Given the description of an element on the screen output the (x, y) to click on. 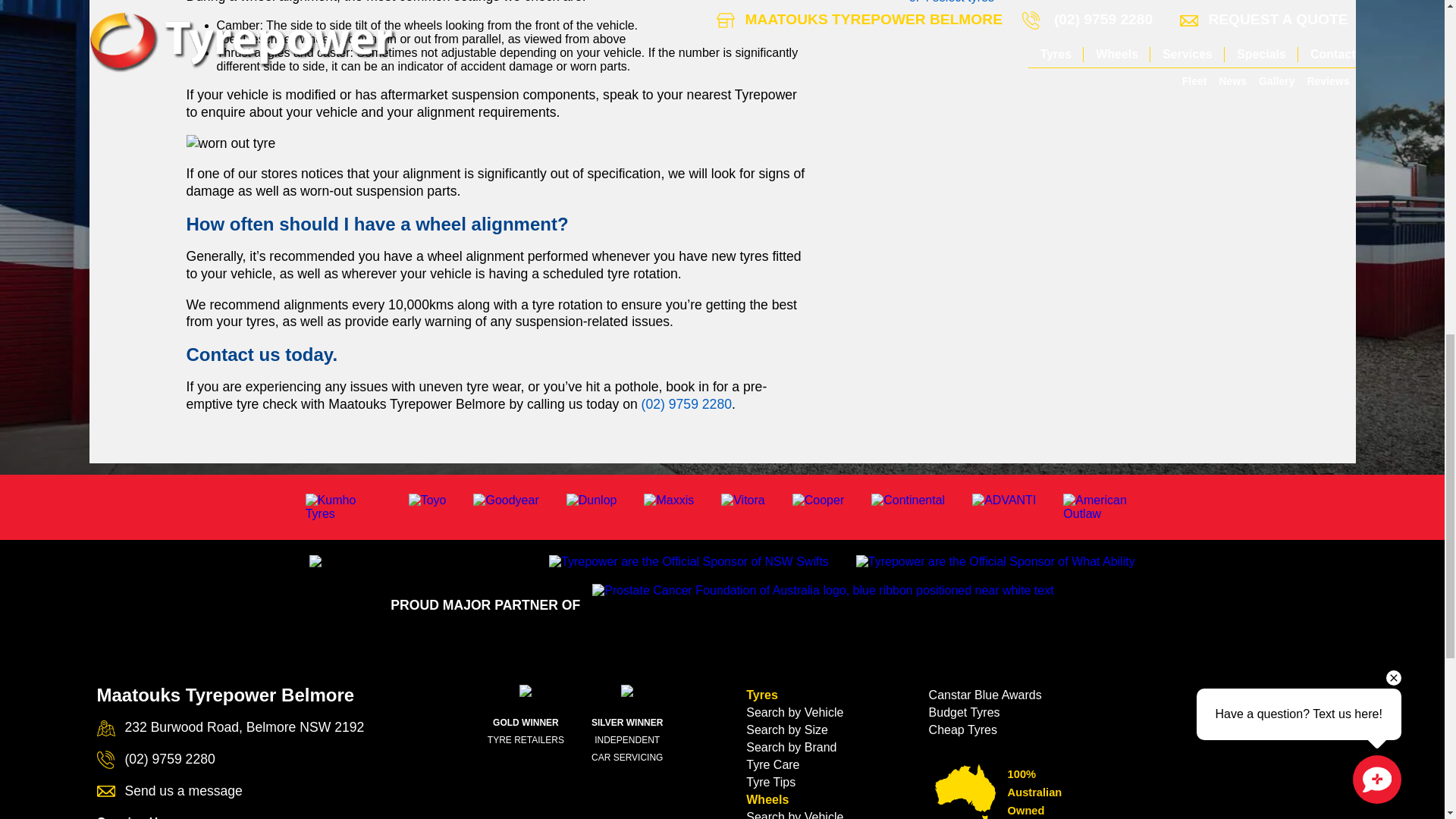
Click to call now! (687, 403)
